Given the description of an element on the screen output the (x, y) to click on. 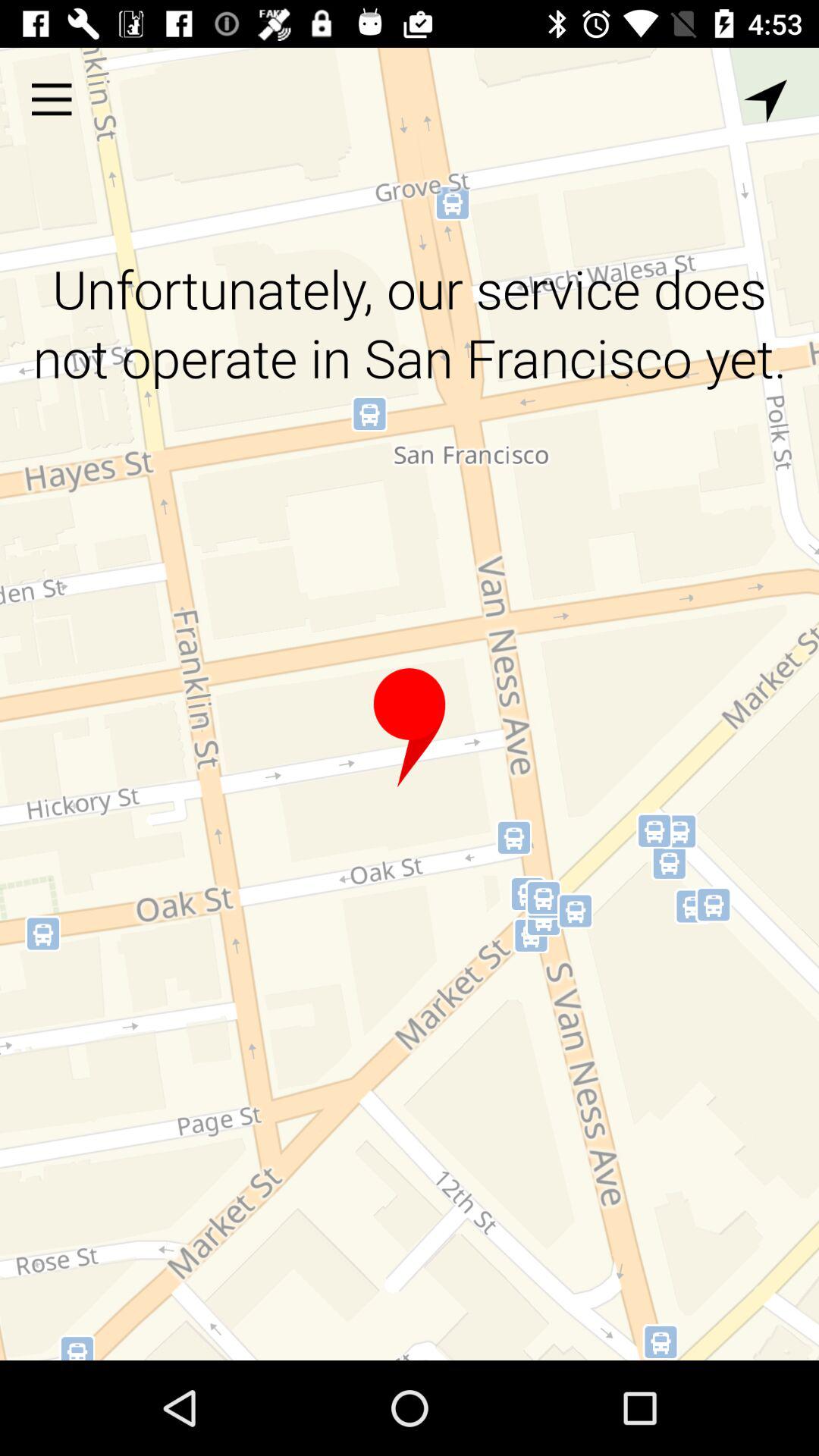
calibrate location (765, 100)
